Given the description of an element on the screen output the (x, y) to click on. 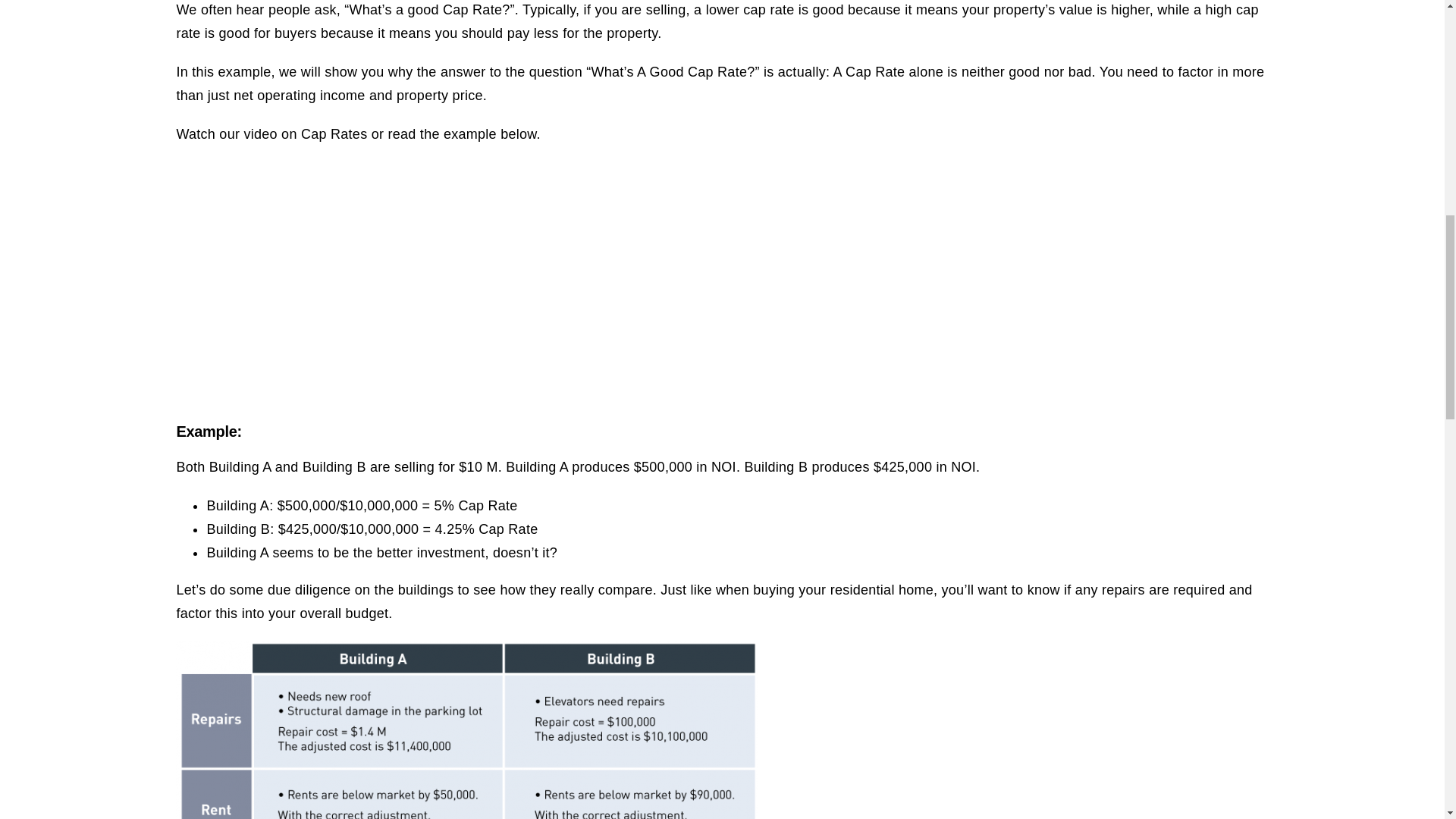
YouTube video player (721, 279)
